Given the description of an element on the screen output the (x, y) to click on. 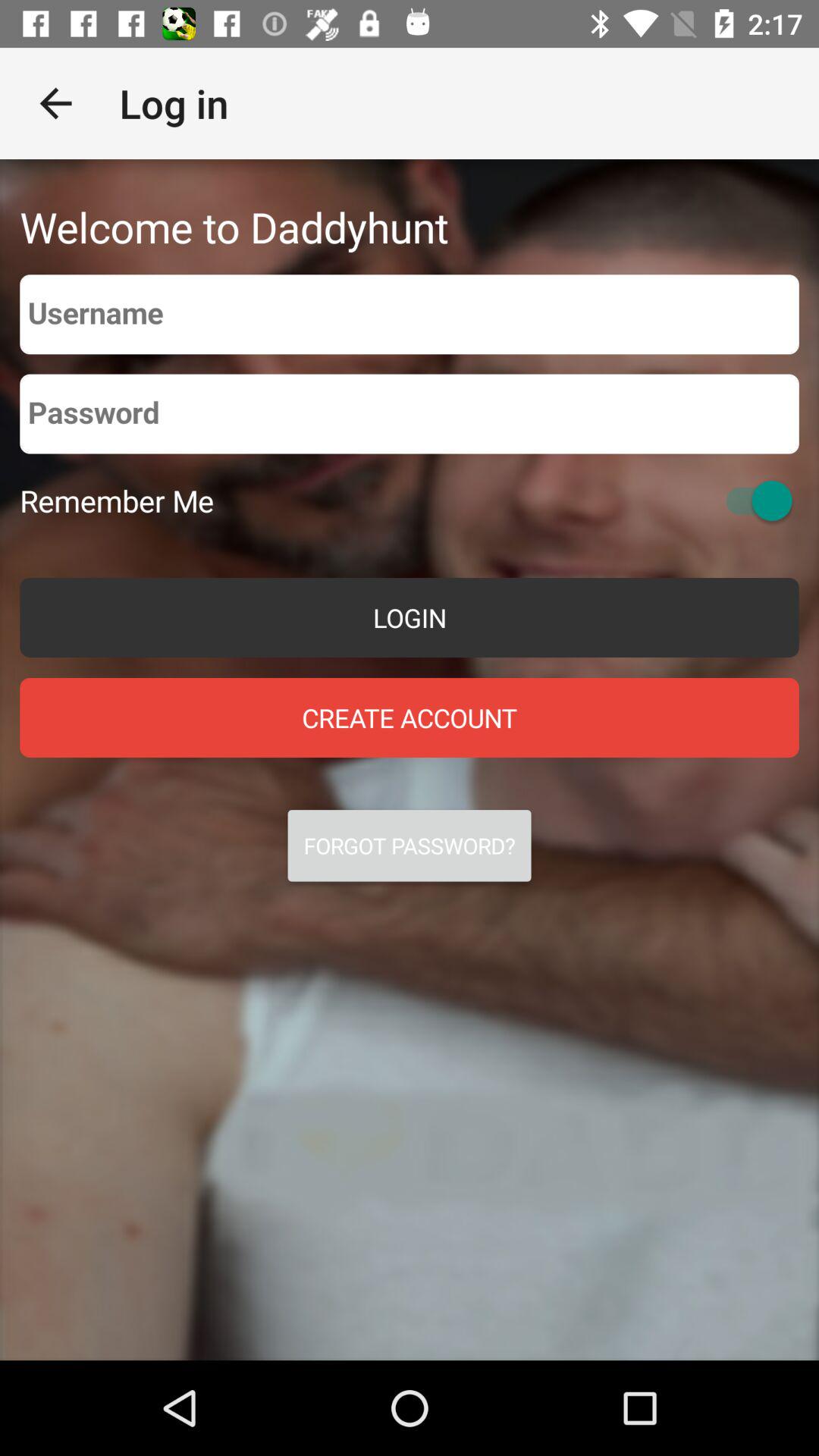
jump to create account item (409, 717)
